Given the description of an element on the screen output the (x, y) to click on. 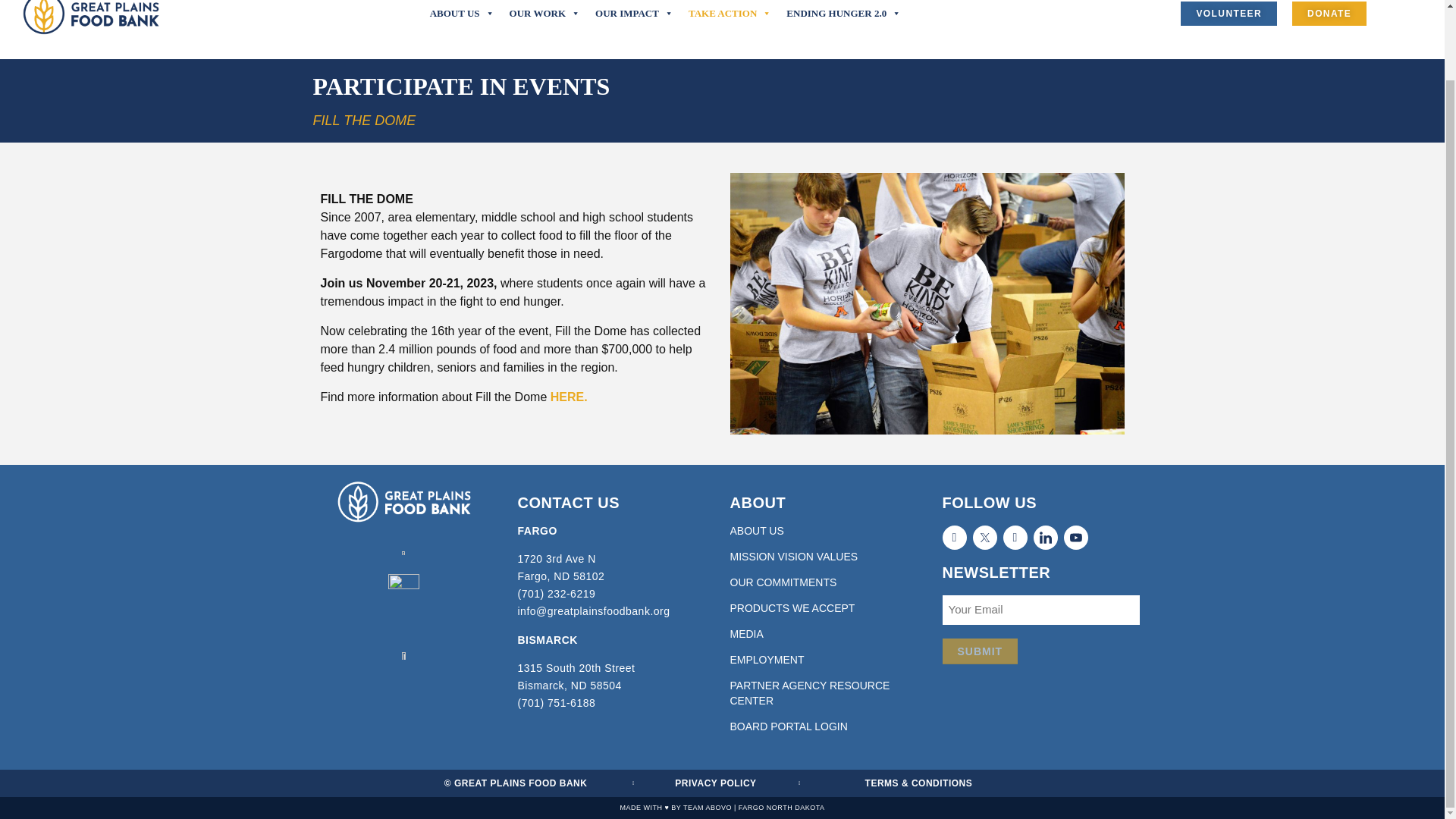
ABOUT US (462, 14)
OUR WORK (545, 14)
Submit (979, 651)
